Given the description of an element on the screen output the (x, y) to click on. 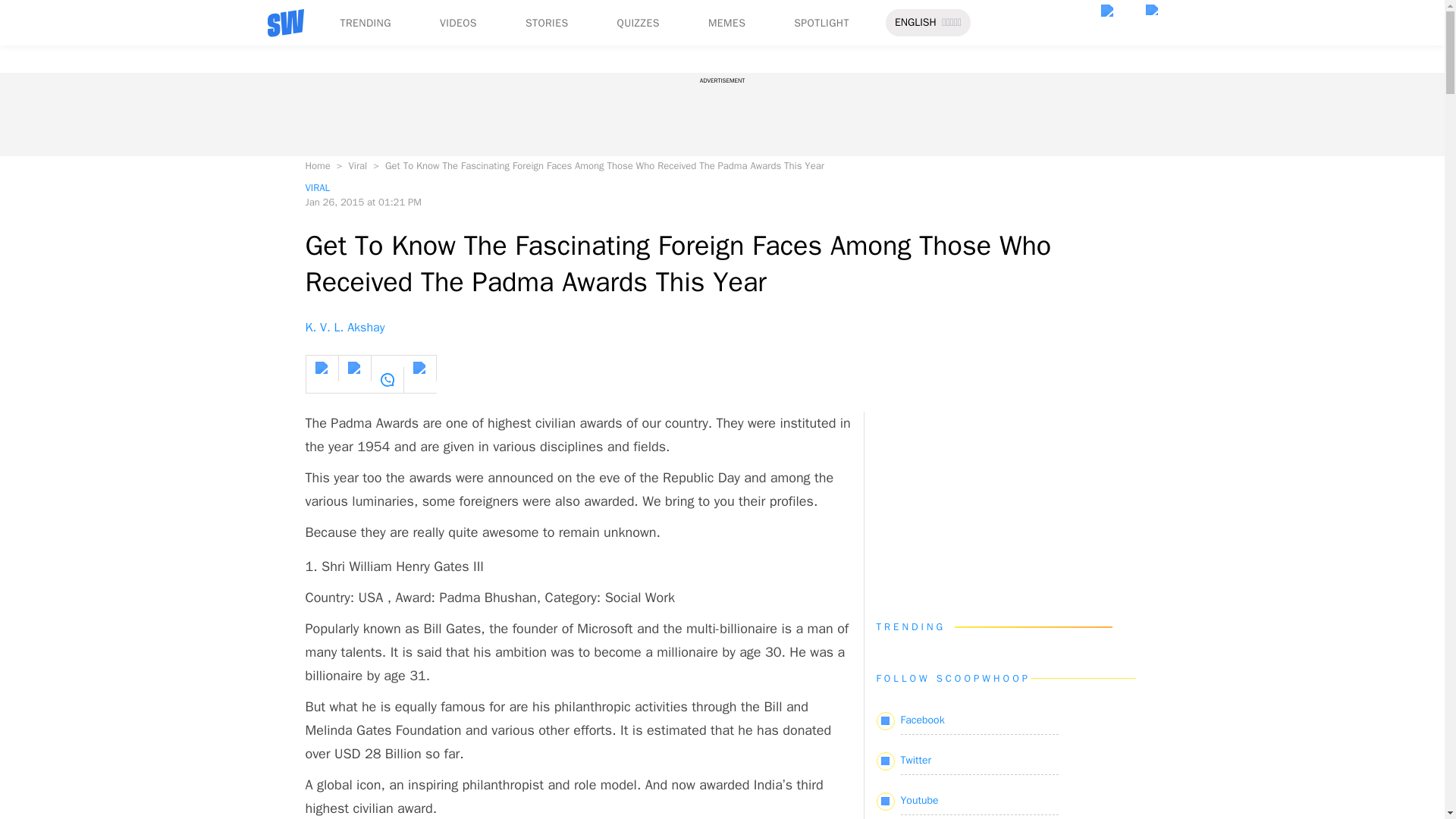
STORIES (547, 22)
MEMES (726, 22)
ENGLISH (915, 22)
QUIZZES (638, 22)
SPOTLIGHT (820, 22)
TRENDING (364, 22)
VIDEOS (458, 22)
